Given the description of an element on the screen output the (x, y) to click on. 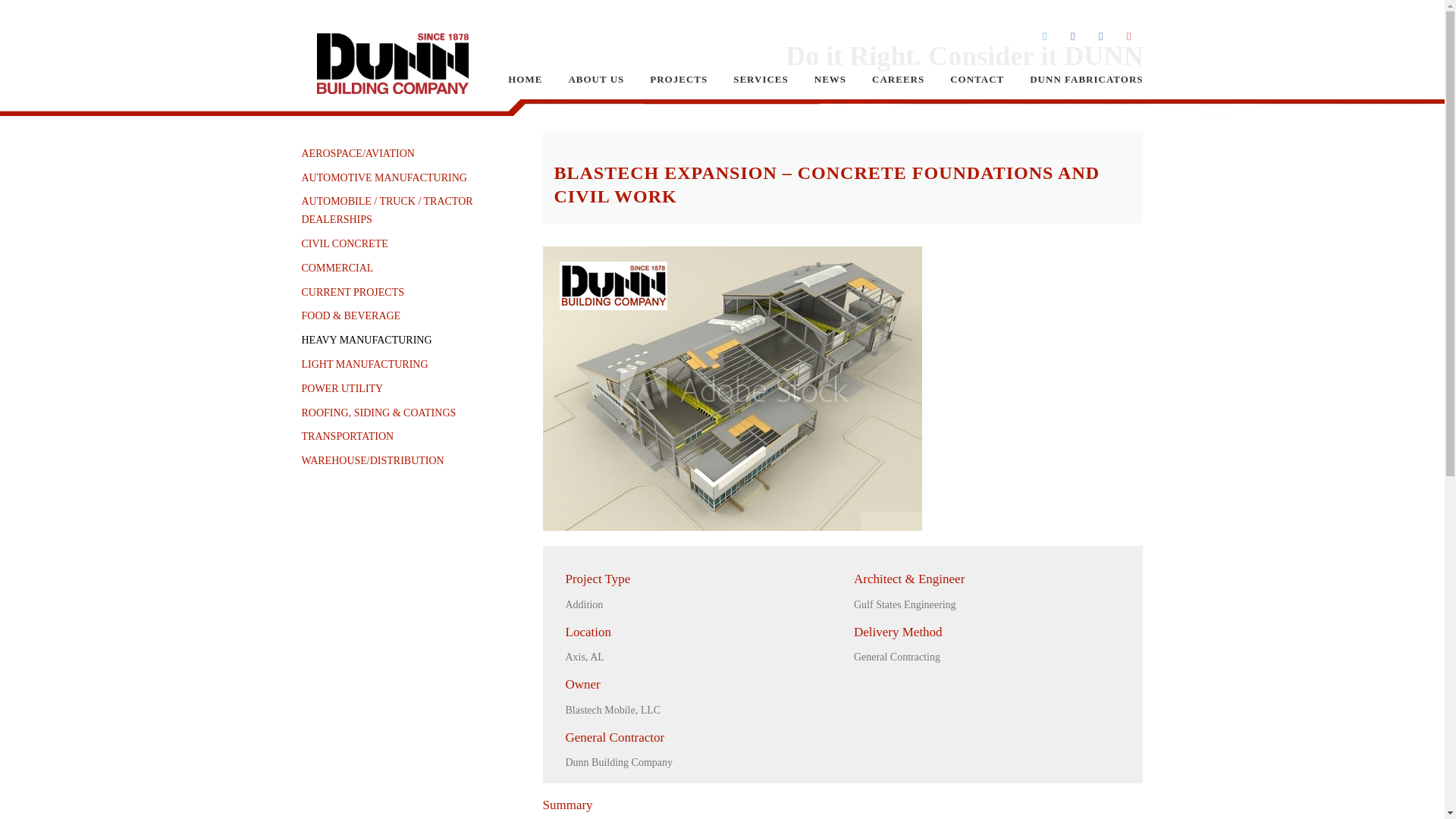
HOME (524, 79)
PROJECTS (678, 79)
CAREERS (898, 79)
NEWS (830, 79)
ABOUT US (595, 79)
SERVICES (761, 79)
